Given the description of an element on the screen output the (x, y) to click on. 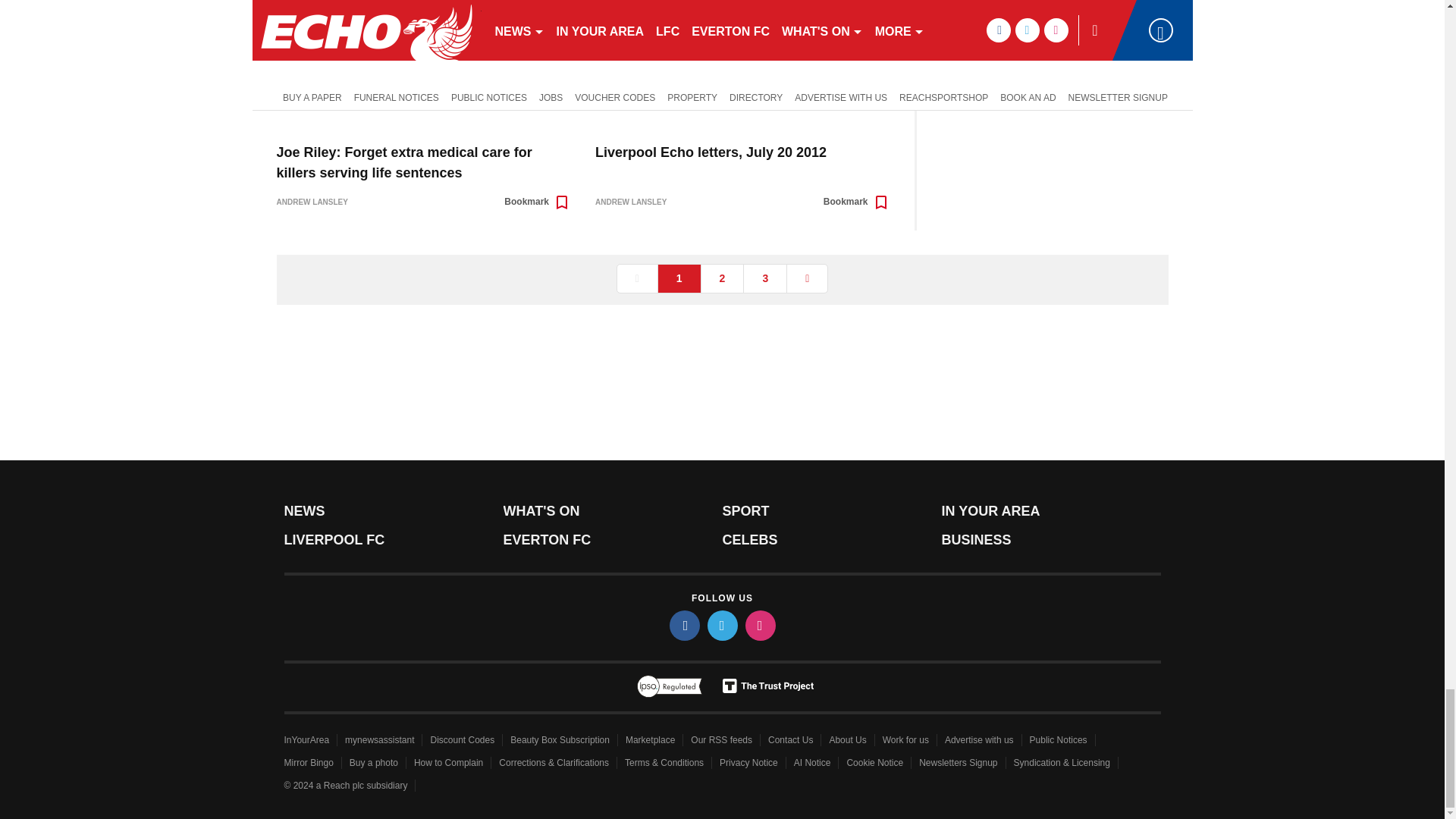
instagram (759, 625)
twitter (721, 625)
facebook (683, 625)
